Given the description of an element on the screen output the (x, y) to click on. 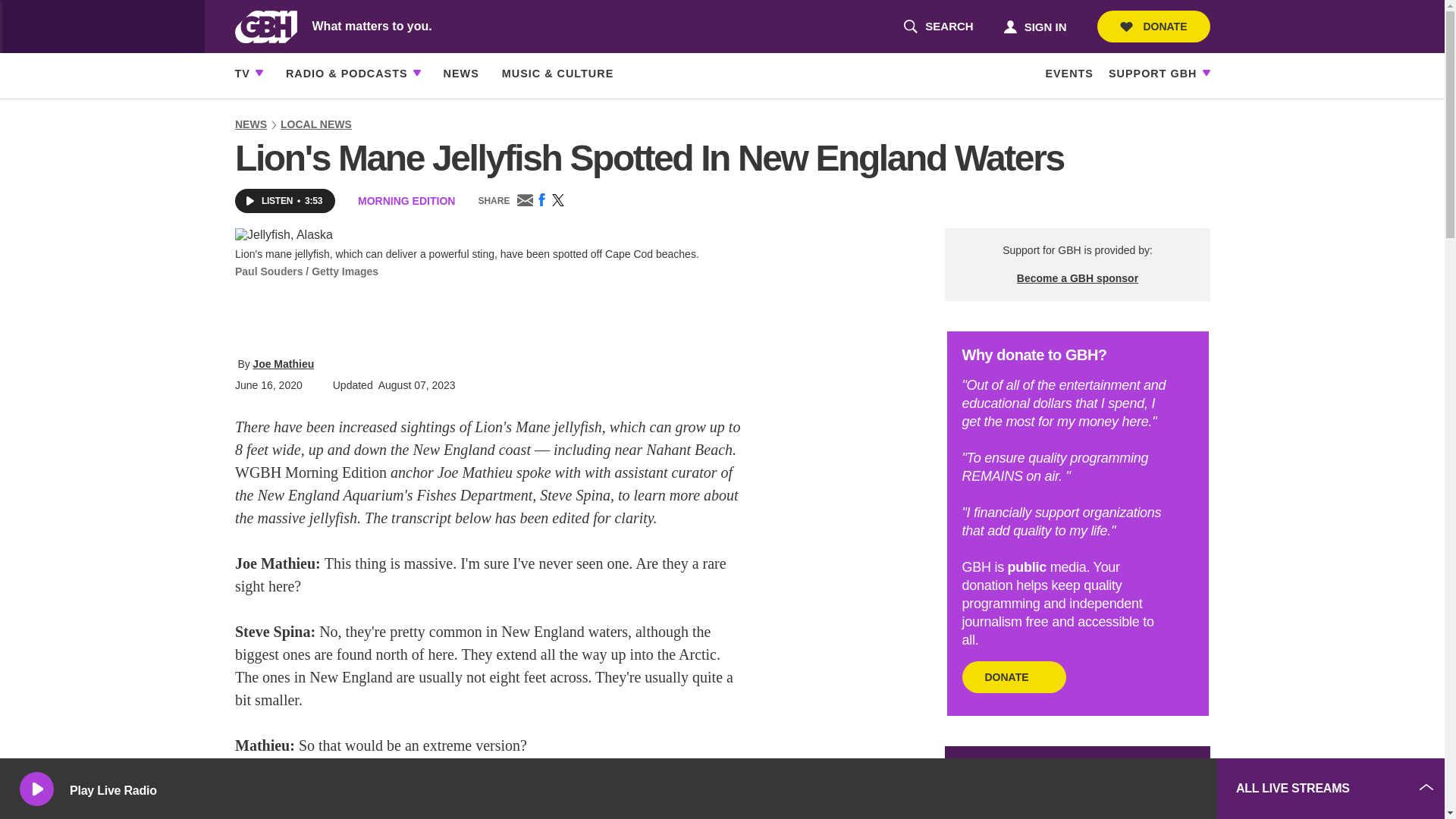
DONATE (1153, 26)
SIGN IN (1034, 25)
